Given the description of an element on the screen output the (x, y) to click on. 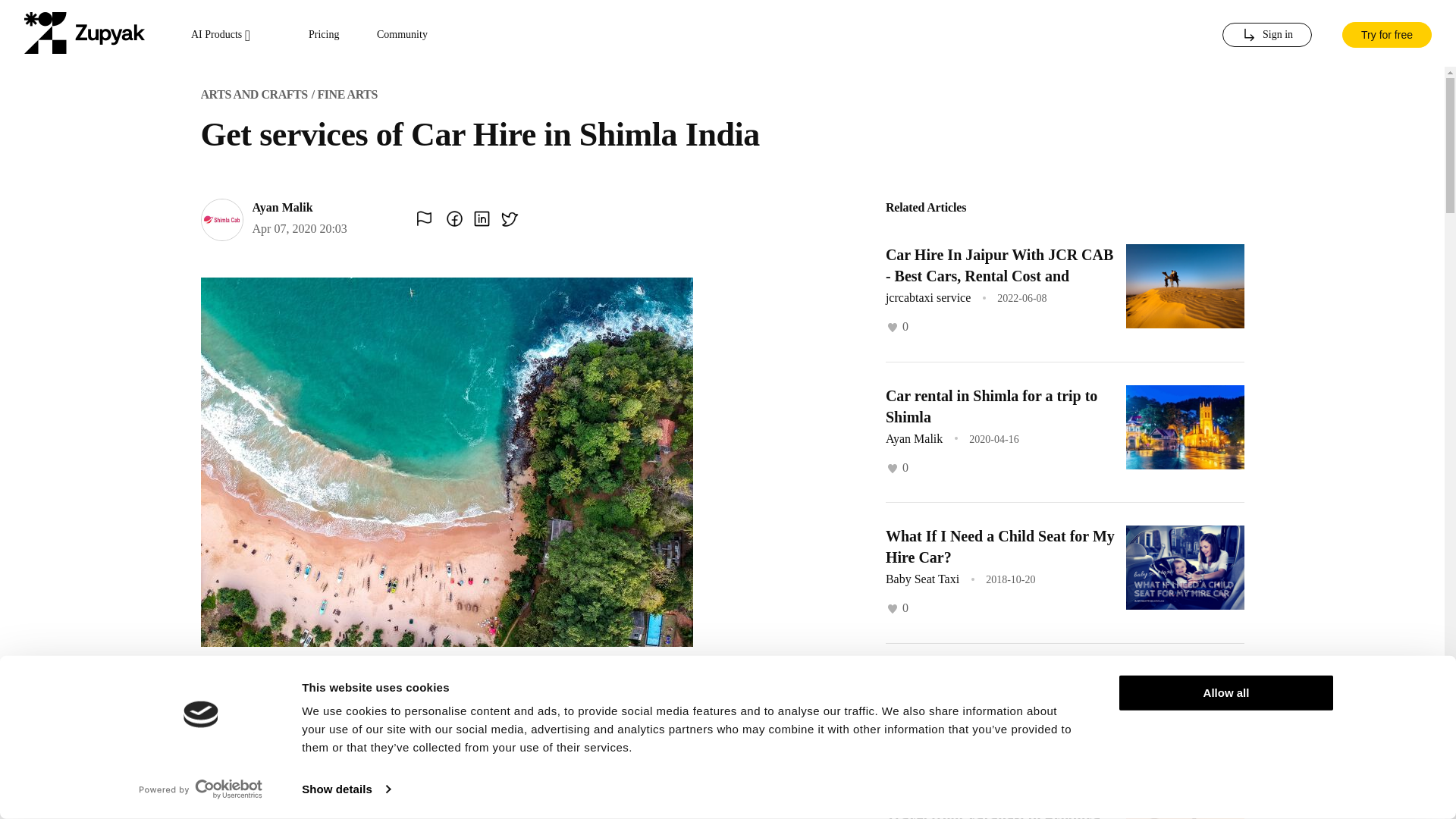
Travel from Varanasi to Ayodhya by Chiku Cab (992, 814)
Show details (345, 789)
Car rental in Shimla for a trip to Shimla (991, 405)
